Given the description of an element on the screen output the (x, y) to click on. 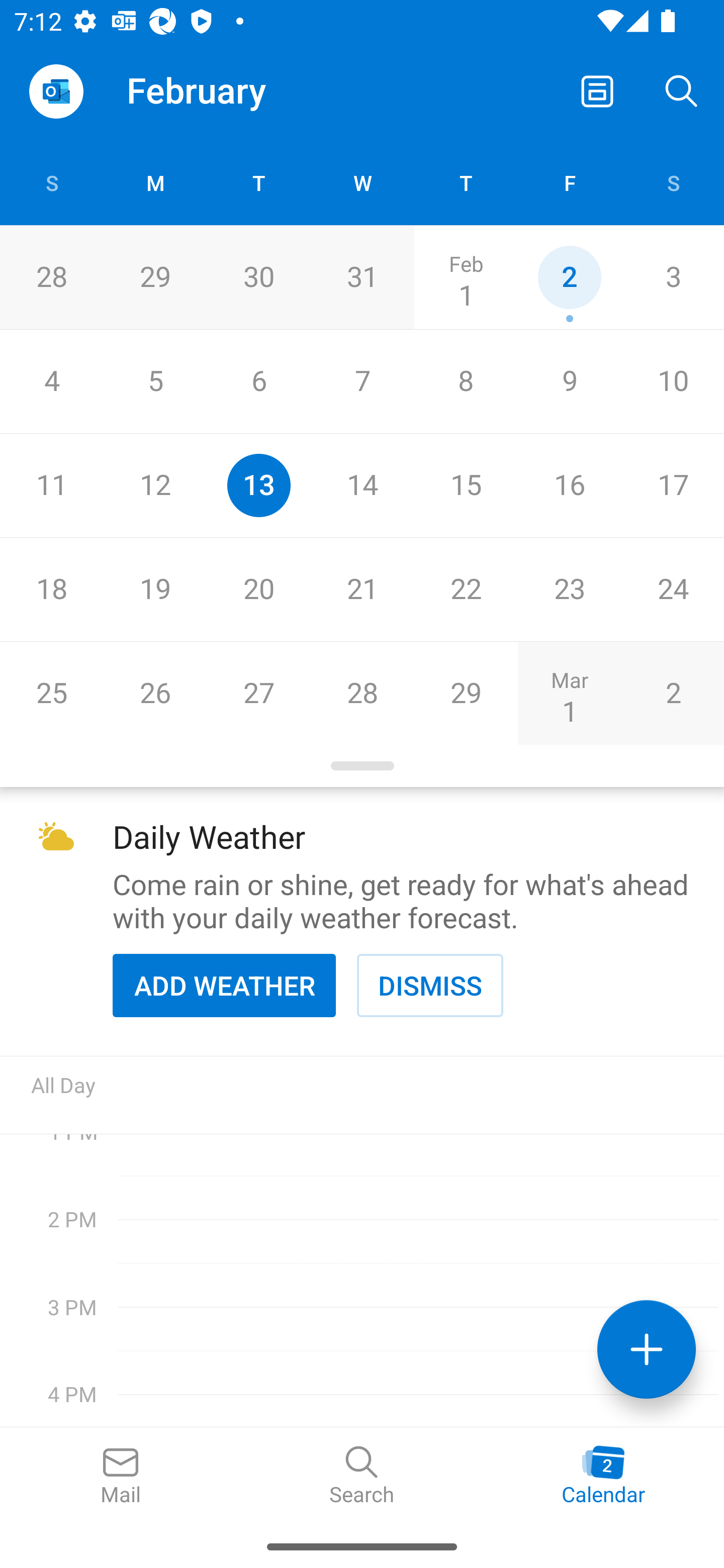
February February 2024, day picker collapse (209, 90)
Switch away from Day view (597, 90)
Search (681, 90)
Open Navigation Drawer (55, 91)
28 Sunday, January 28 (51, 277)
29 Monday, January 29 (155, 277)
30 Tuesday, January 30 (258, 277)
31 Wednesday, January 31 (362, 277)
Feb
1 Thursday, February 1 (465, 277)
2 Events on Friday, February 2, today (569, 277)
3 Saturday, February 3 (672, 277)
4 Sunday, February 4 (51, 380)
5 Monday, February 5 (155, 380)
6 Tuesday, February 6 (258, 380)
7 Wednesday, February 7 (362, 380)
8 Thursday, February 8 (465, 380)
9 Friday, February 9 (569, 380)
10 Saturday, February 10 (672, 380)
11 Sunday, February 11 (51, 485)
12 Monday, February 12 (155, 485)
13 Tuesday, February 13, Selected (258, 485)
14 Wednesday, February 14 (362, 485)
15 Thursday, February 15 (465, 485)
16 Friday, February 16 (569, 485)
17 Saturday, February 17 (672, 485)
18 Sunday, February 18 (51, 589)
19 Monday, February 19 (155, 589)
20 Tuesday, February 20 (258, 589)
21 Wednesday, February 21 (362, 589)
22 Thursday, February 22 (465, 589)
23 Friday, February 23 (569, 589)
24 Saturday, February 24 (672, 589)
25 Sunday, February 25 (51, 692)
26 Monday, February 26 (155, 692)
27 Tuesday, February 27 (258, 692)
28 Wednesday, February 28 (362, 692)
29 Thursday, February 29 (465, 692)
Mar
1 Friday, March 1 (569, 692)
2 Saturday, March 2 (672, 692)
Day picker collapse (362, 765)
ADD WEATHER (224, 985)
DISMISS (429, 985)
Add new event (646, 1348)
Mail (120, 1475)
Search (361, 1475)
